Given the description of an element on the screen output the (x, y) to click on. 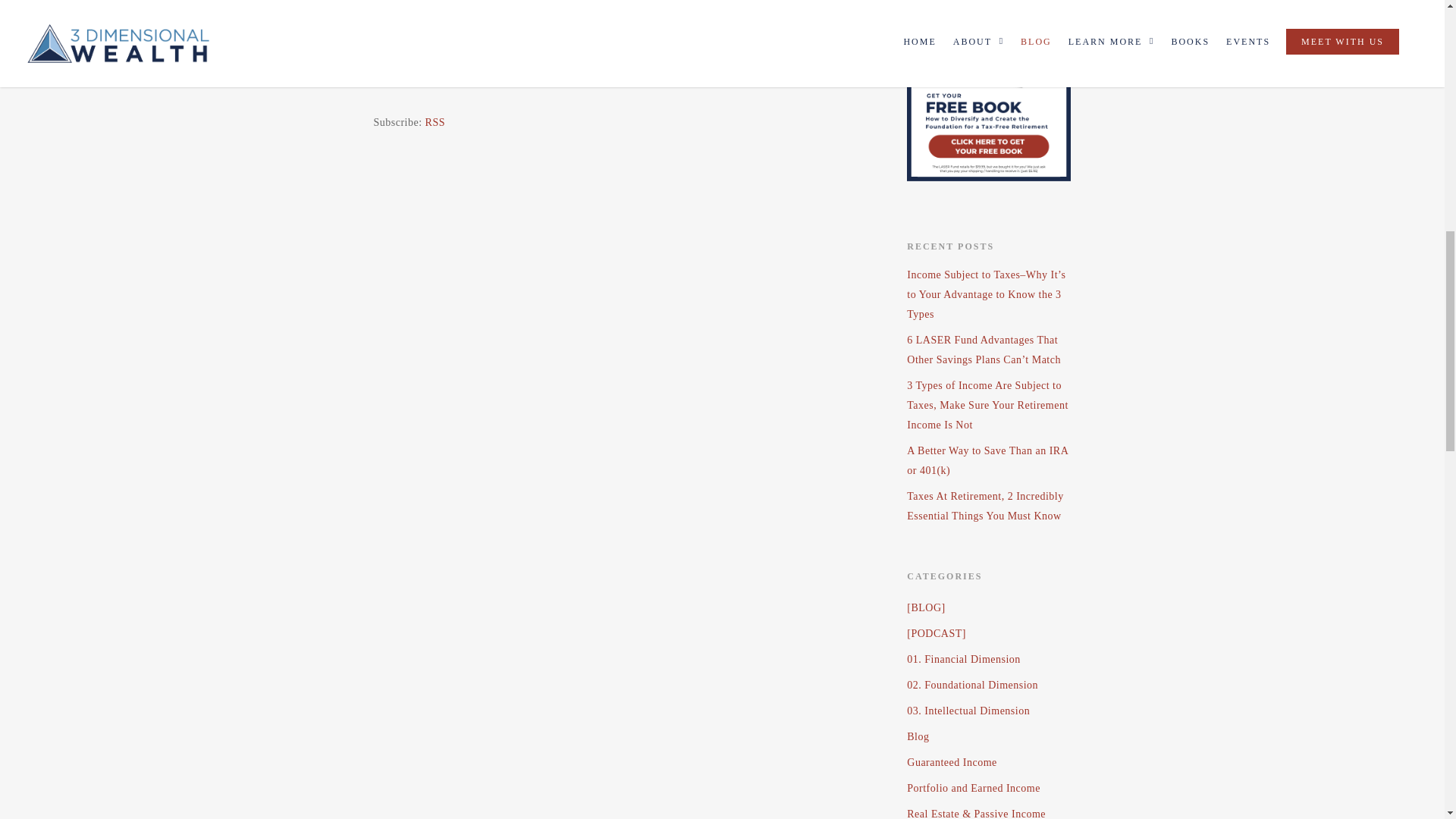
Download (541, 81)
Play in new window (461, 81)
Play in new window (461, 81)
Download (541, 81)
Subscribe via RSS (435, 122)
visiting with a IUL Specialist (480, 7)
RSS (435, 122)
